Given the description of an element on the screen output the (x, y) to click on. 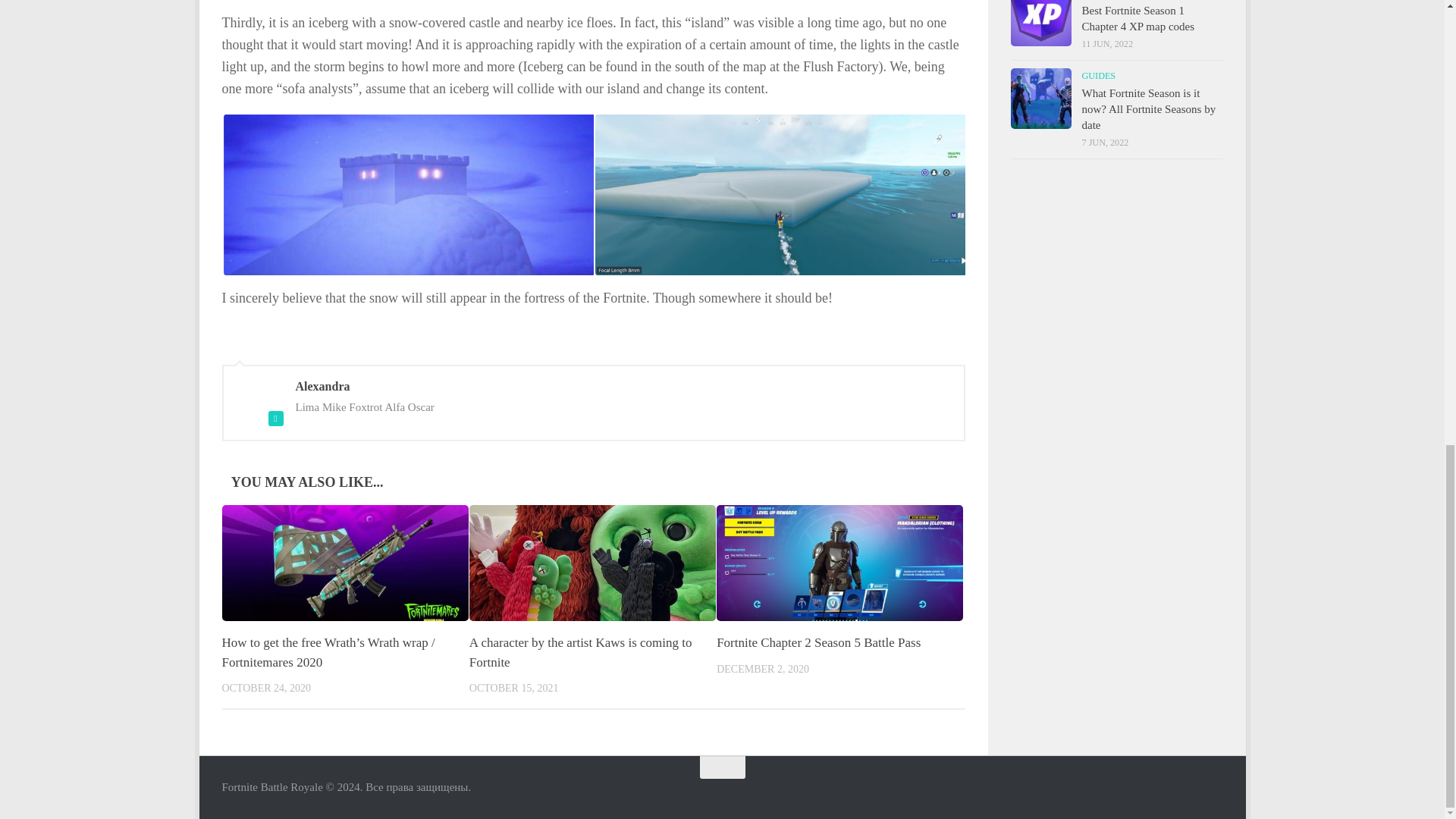
Winter is coming!   (780, 194)
Winter is coming!   (408, 194)
